Given the description of an element on the screen output the (x, y) to click on. 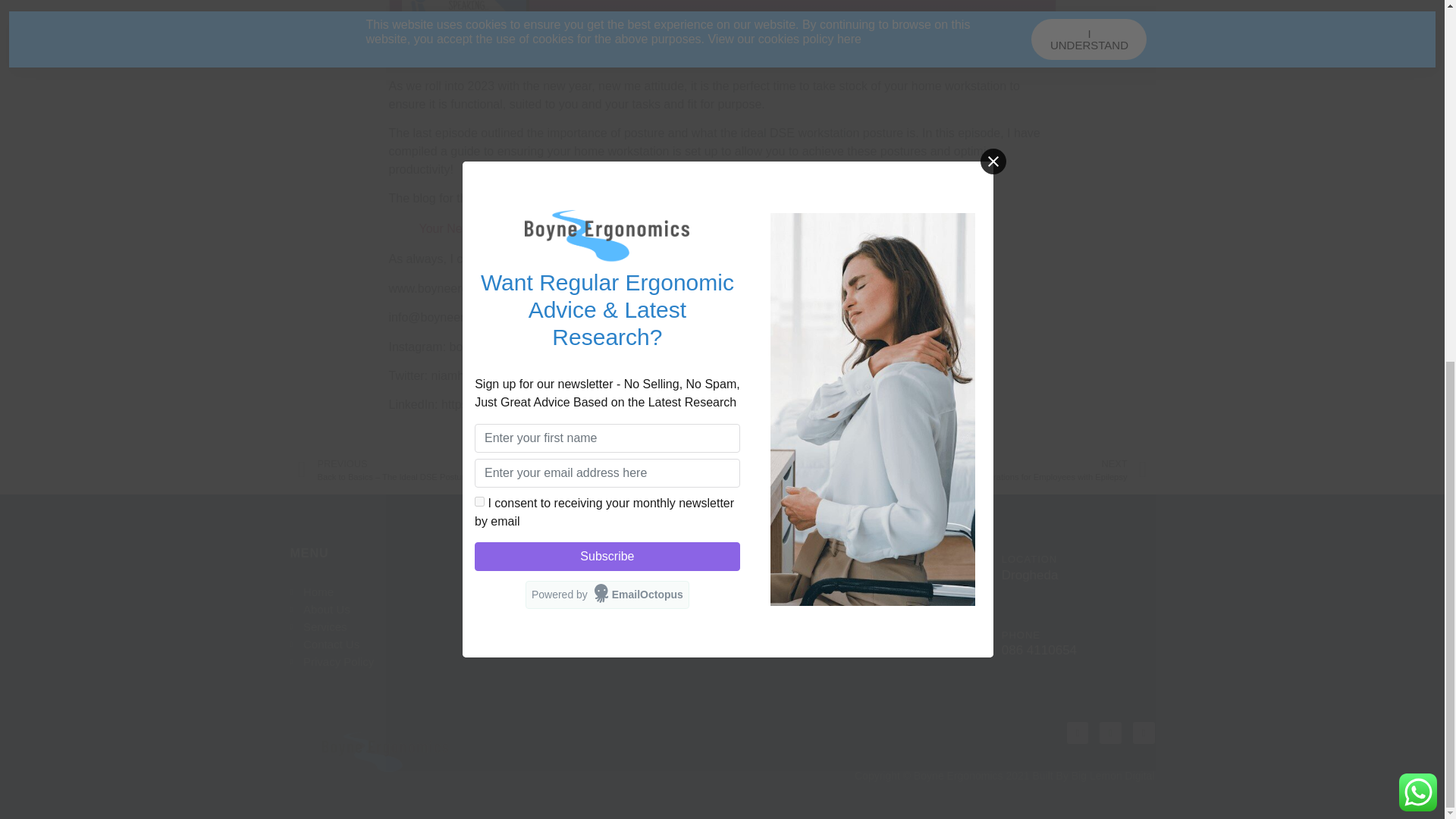
Onsite Assessments (607, 591)
Services (397, 626)
Contact Us (397, 644)
Privacy Policy (397, 661)
Home (397, 591)
About Us (397, 609)
Your New Year Home Workstation Audit! (526, 228)
